Given the description of an element on the screen output the (x, y) to click on. 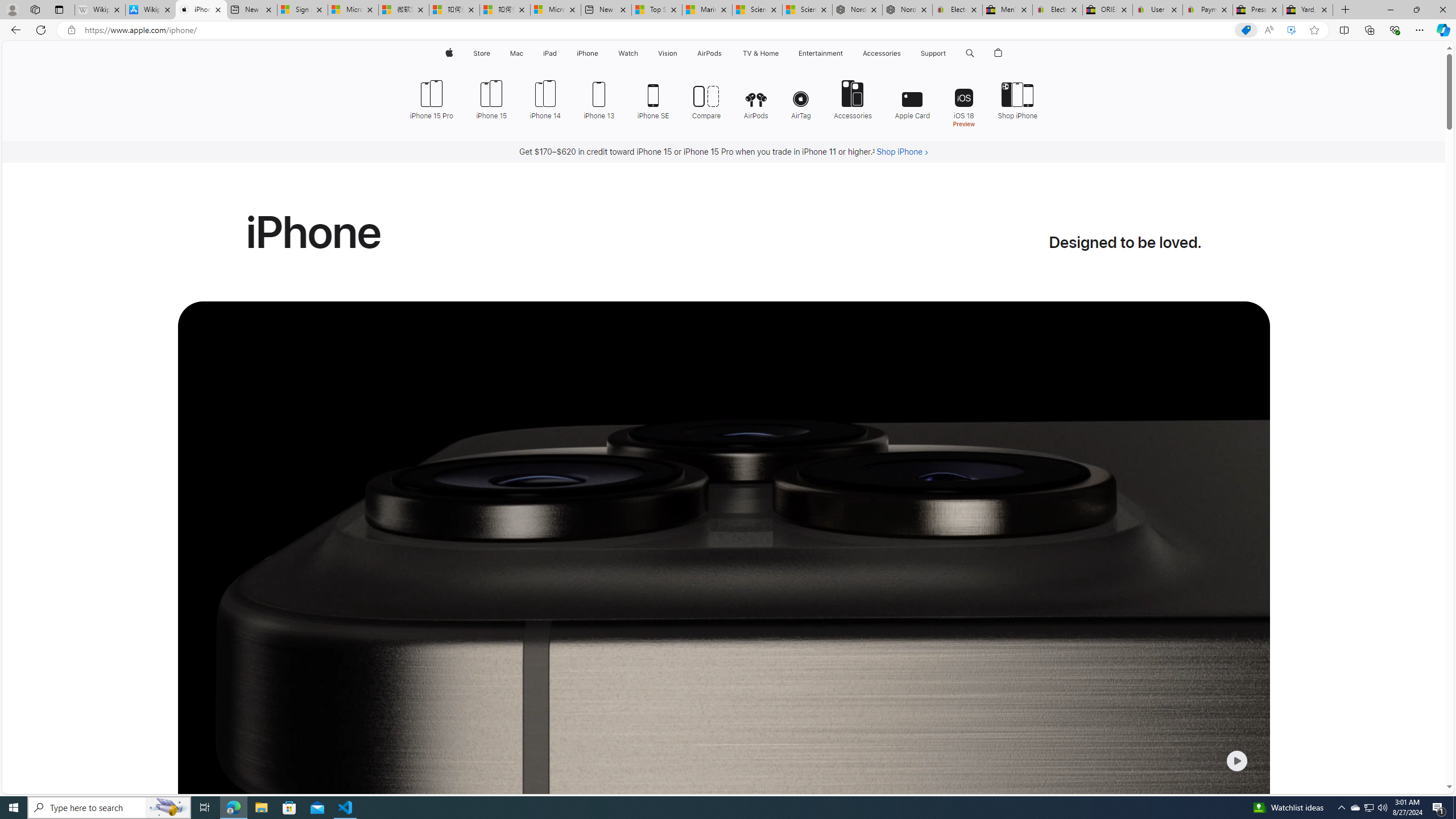
TV and Home menu (780, 53)
Mac (516, 53)
Vision (667, 53)
Compare (705, 98)
Payments Terms of Use | eBay.com (1207, 9)
Microsoft account | Account Checkup (555, 9)
Apple Card (911, 98)
Footnote 1 (873, 151)
Accessories menu (903, 53)
iPhone 15 Pro (430, 98)
Top Stories - MSN (656, 9)
